Given the description of an element on the screen output the (x, y) to click on. 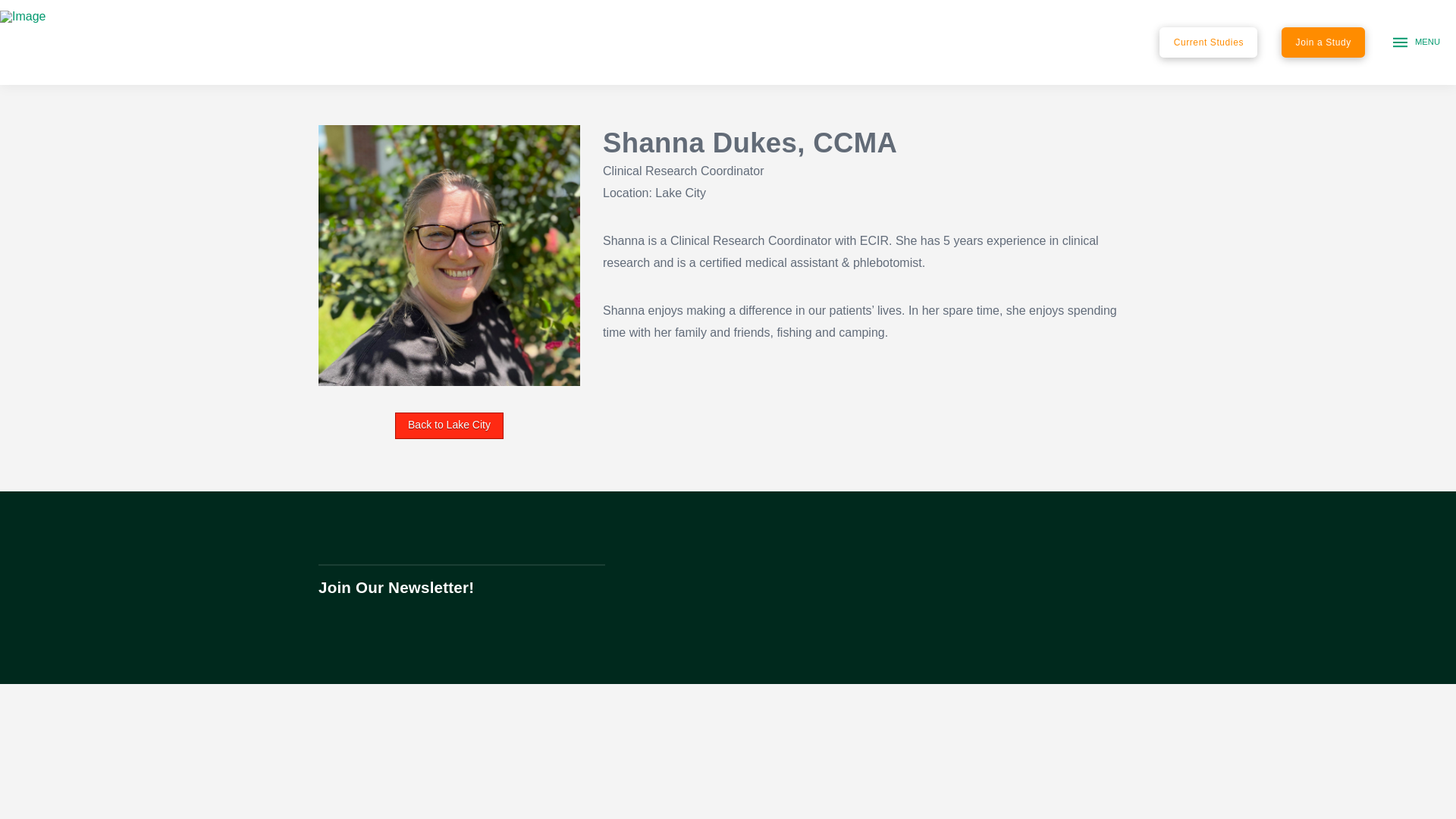
Join a Study (1323, 42)
Back to Lake City (448, 425)
